Given the description of an element on the screen output the (x, y) to click on. 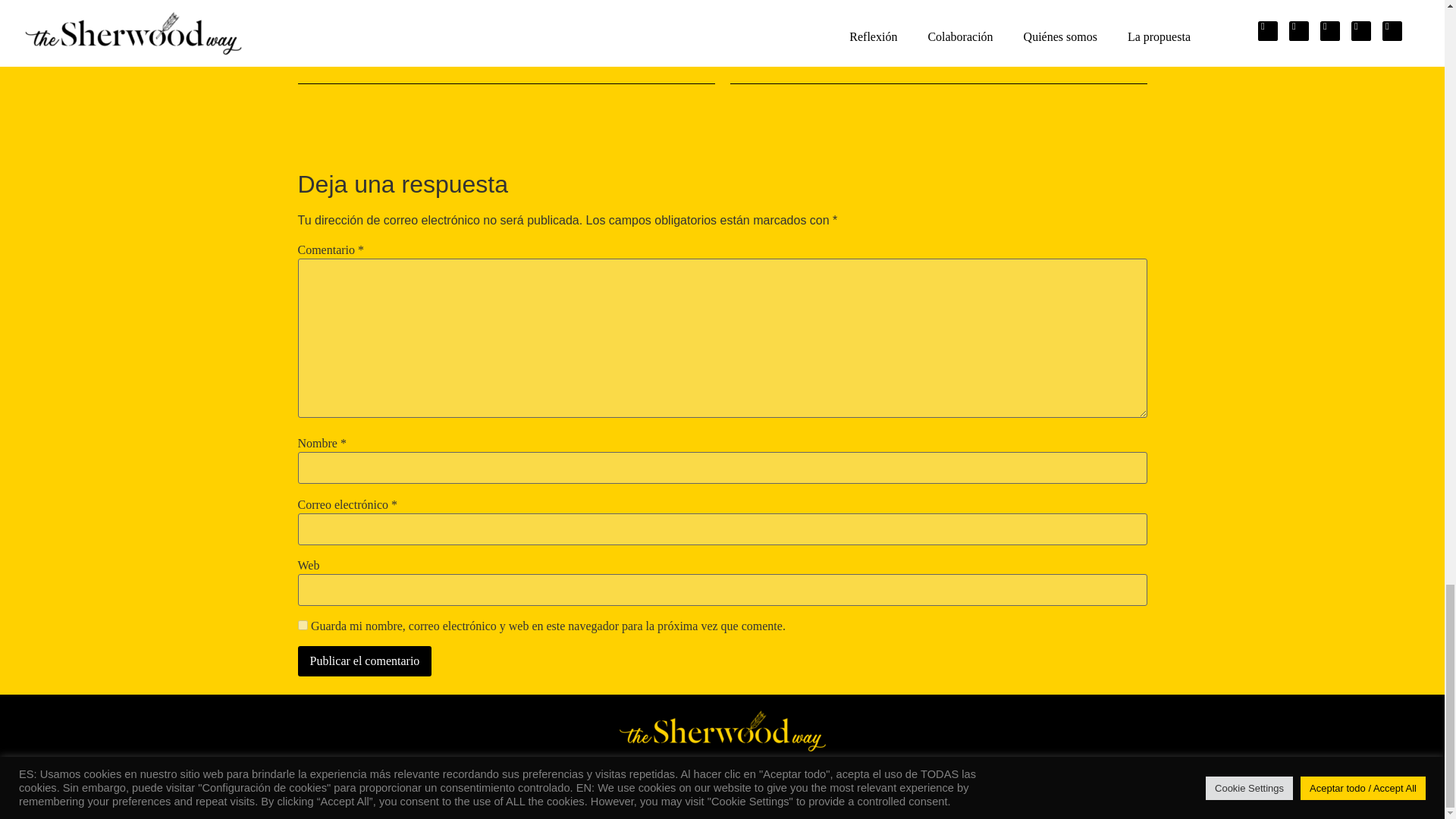
Publicar el comentario (363, 661)
yes (302, 624)
